Given the description of an element on the screen output the (x, y) to click on. 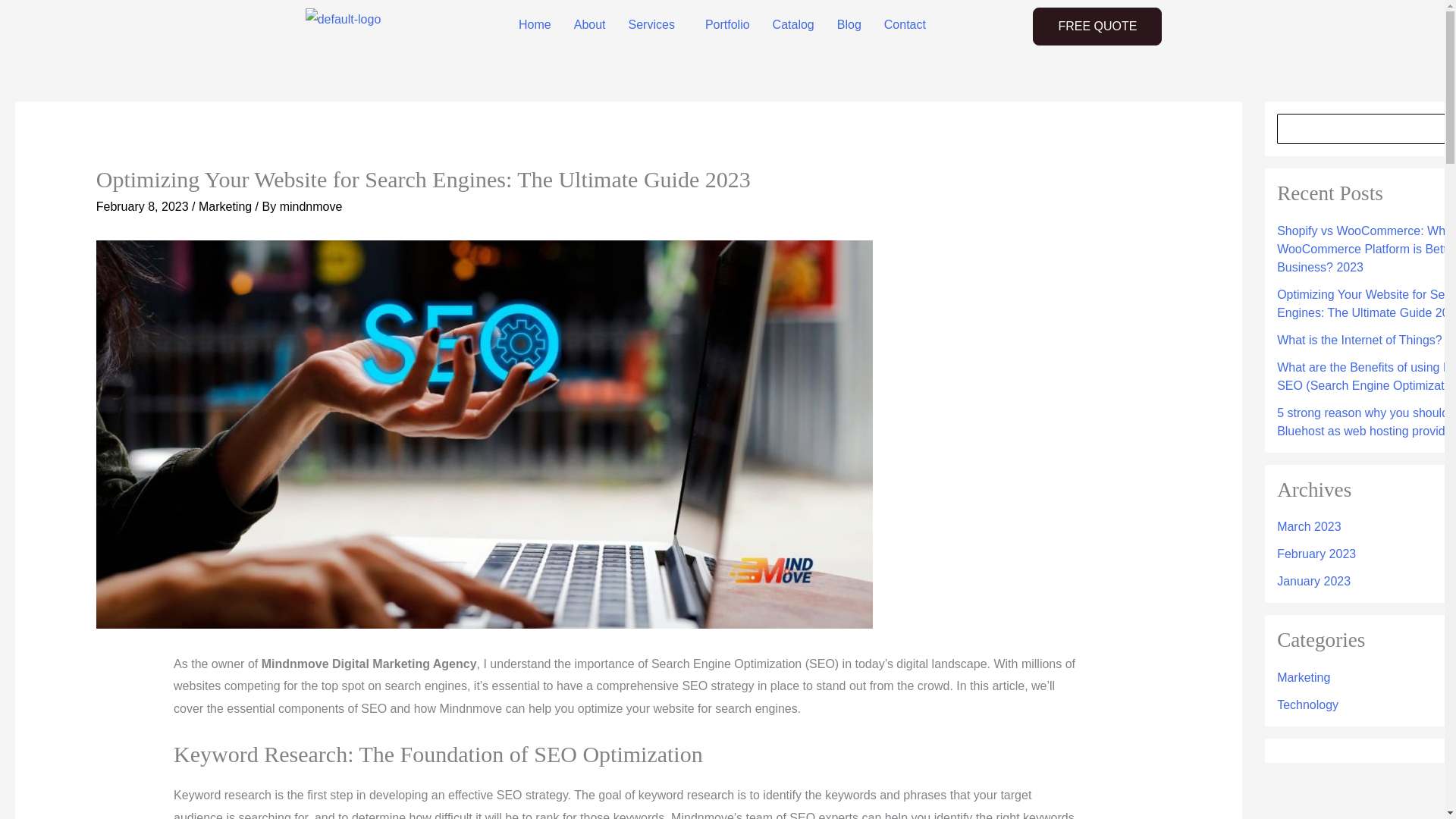
Portfolio (727, 24)
About (589, 24)
Contact (904, 24)
Services (655, 24)
Blog (848, 24)
FREE QUOTE (1096, 26)
Marketing (224, 205)
mindnmove (310, 205)
View all posts by mindnmove (310, 205)
Catalog (793, 24)
